Given the description of an element on the screen output the (x, y) to click on. 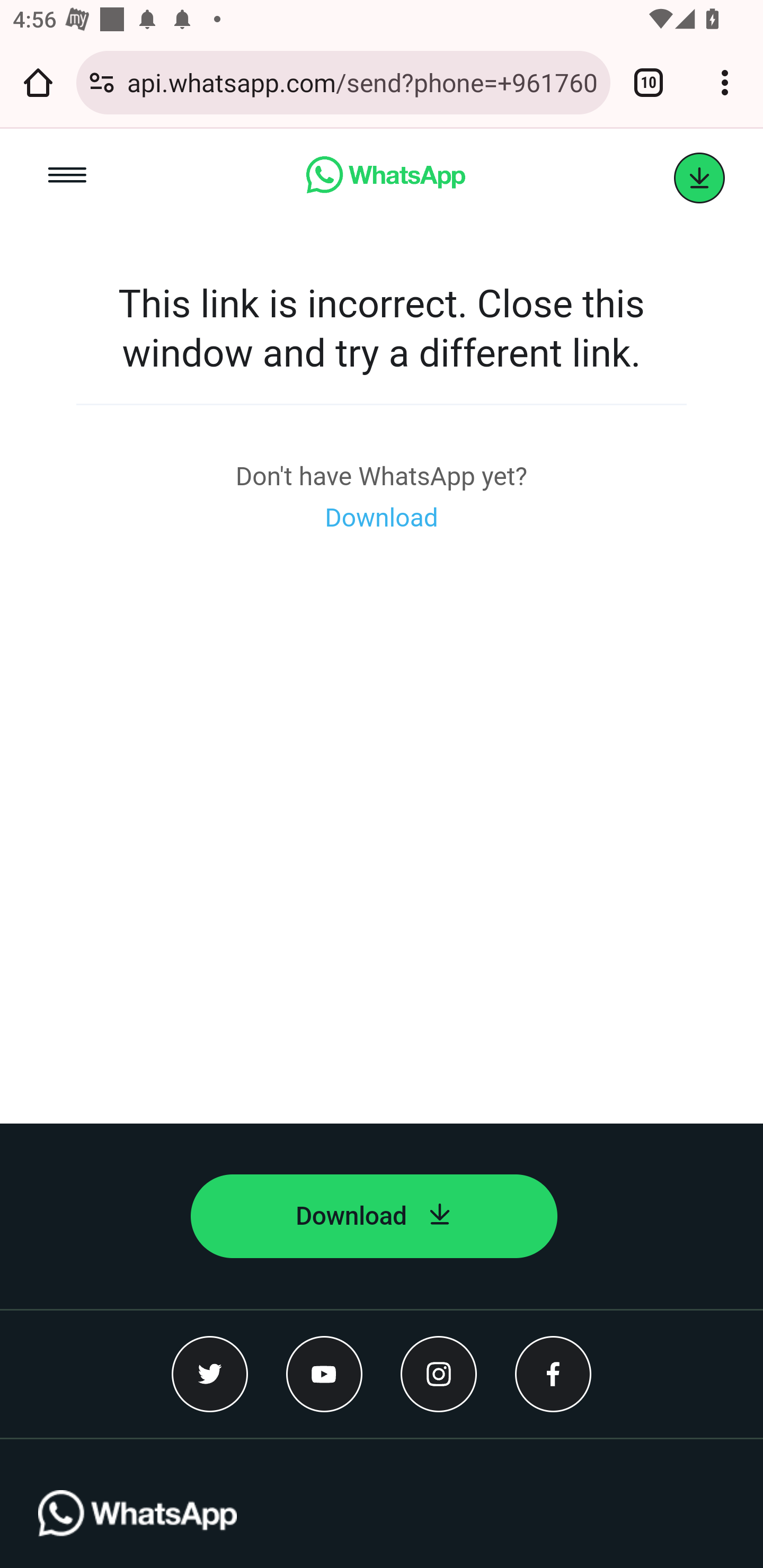
Open the home page (38, 82)
Connection is secure (101, 82)
Switch or close tabs (648, 82)
Customize and control Google Chrome (724, 82)
api.whatsapp.com/send?phone=+96176062040 (362, 82)
Open mobile menu (67, 177)
details?id=com (698, 177)
WhatsApp Main Page (385, 177)
Download Download Download (381, 518)
Download (373, 1216)
Twitter (209, 1373)
Youtube (324, 1373)
Instagram (438, 1373)
Facebook (553, 1373)
WhatsApp Main Logo (137, 1528)
